Given the description of an element on the screen output the (x, y) to click on. 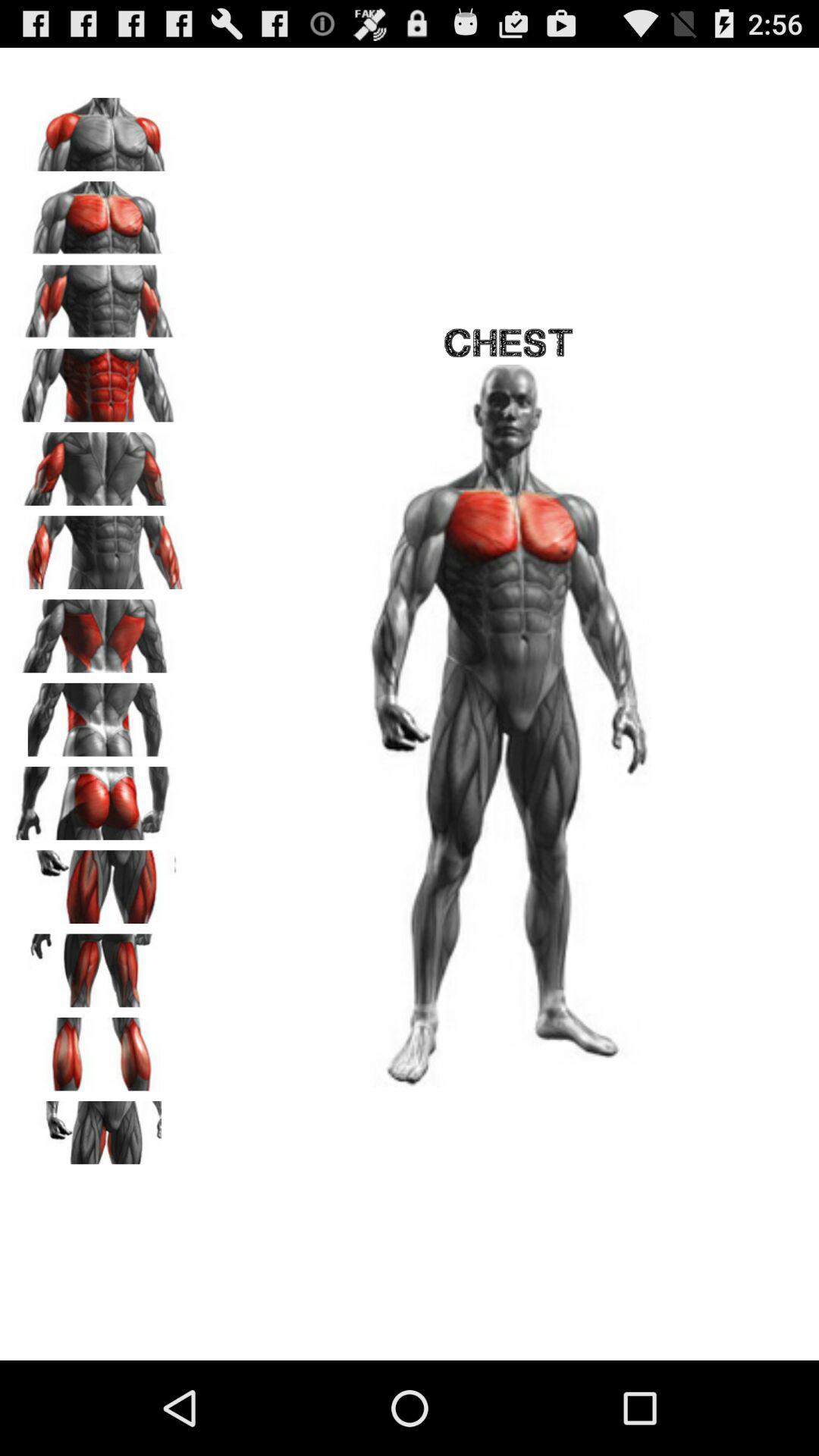
chose back view (99, 714)
